Given the description of an element on the screen output the (x, y) to click on. 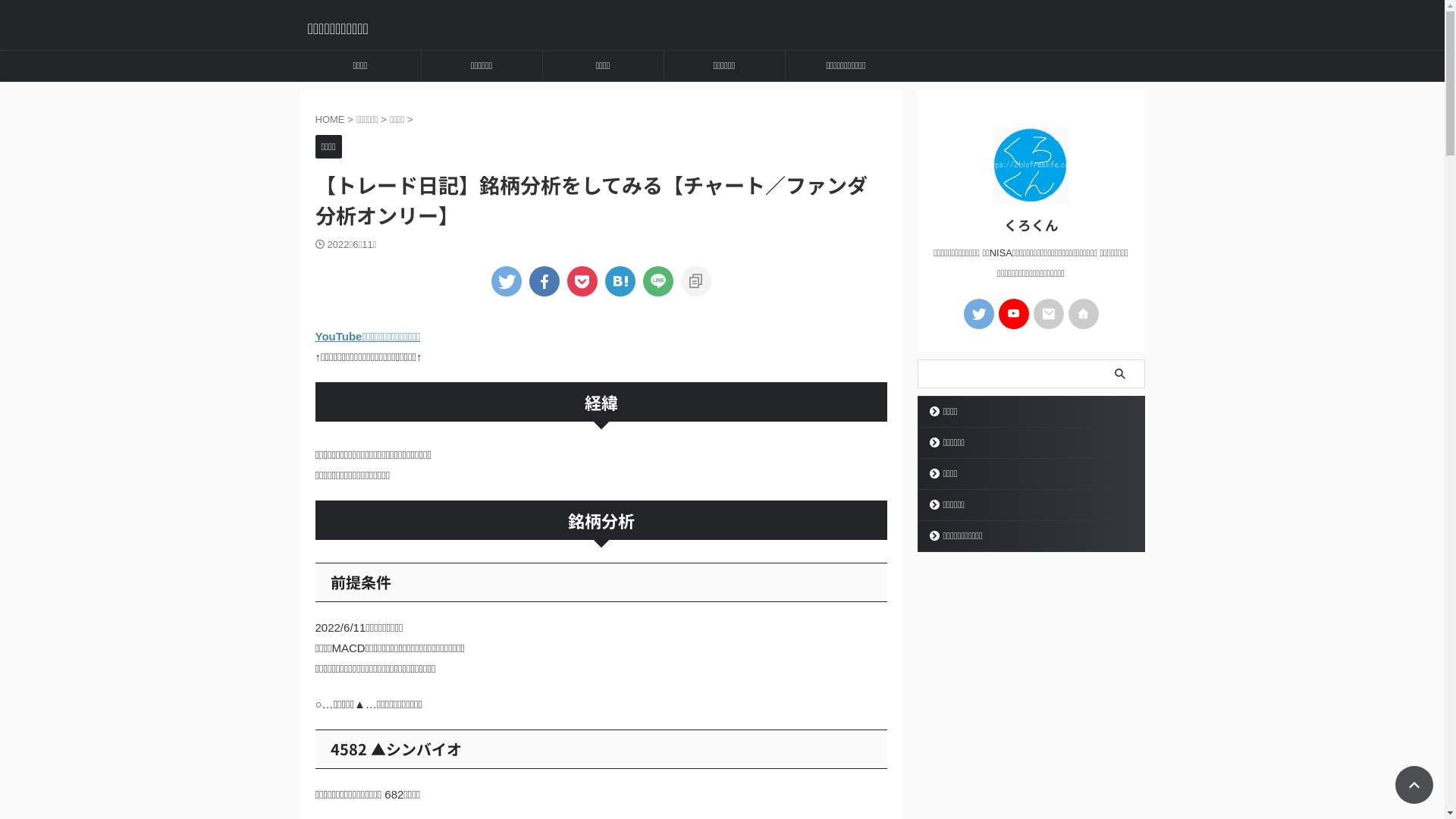
HOME Element type: text (331, 119)
